Given the description of an element on the screen output the (x, y) to click on. 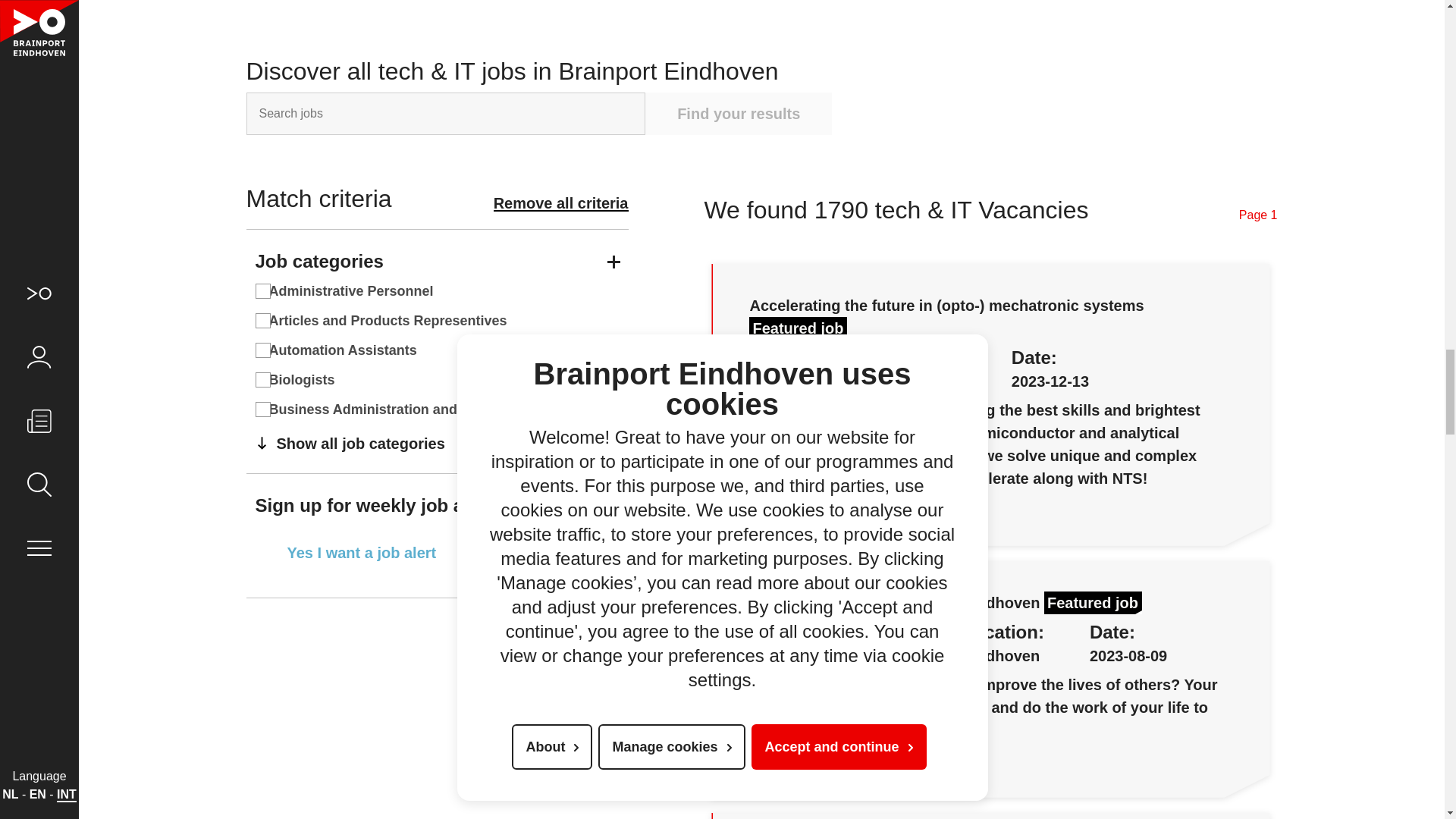
Find your results (738, 113)
